Given the description of an element on the screen output the (x, y) to click on. 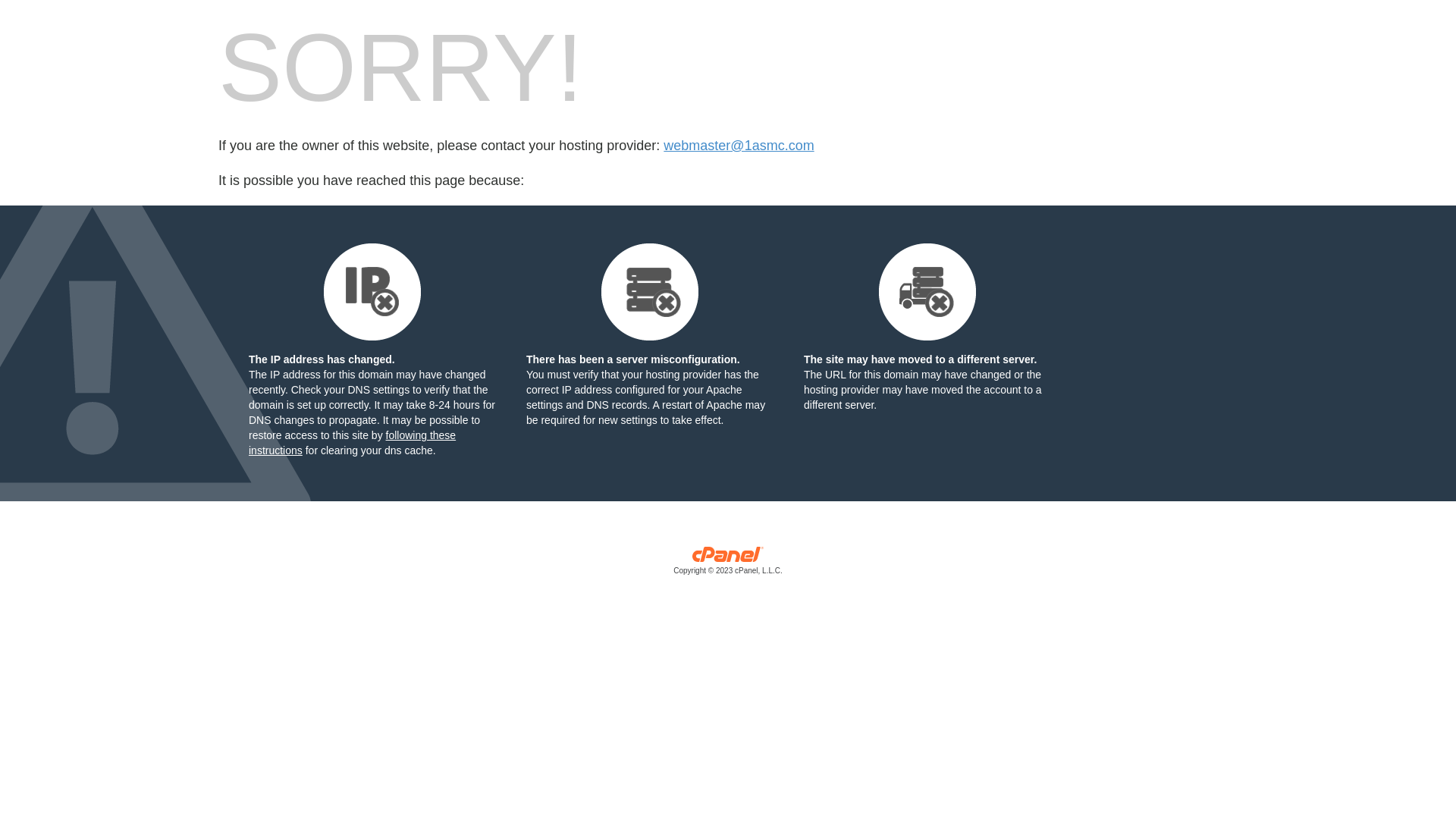
following these instructions Element type: text (351, 442)
webmaster@1asmc.com Element type: text (738, 145)
